Given the description of an element on the screen output the (x, y) to click on. 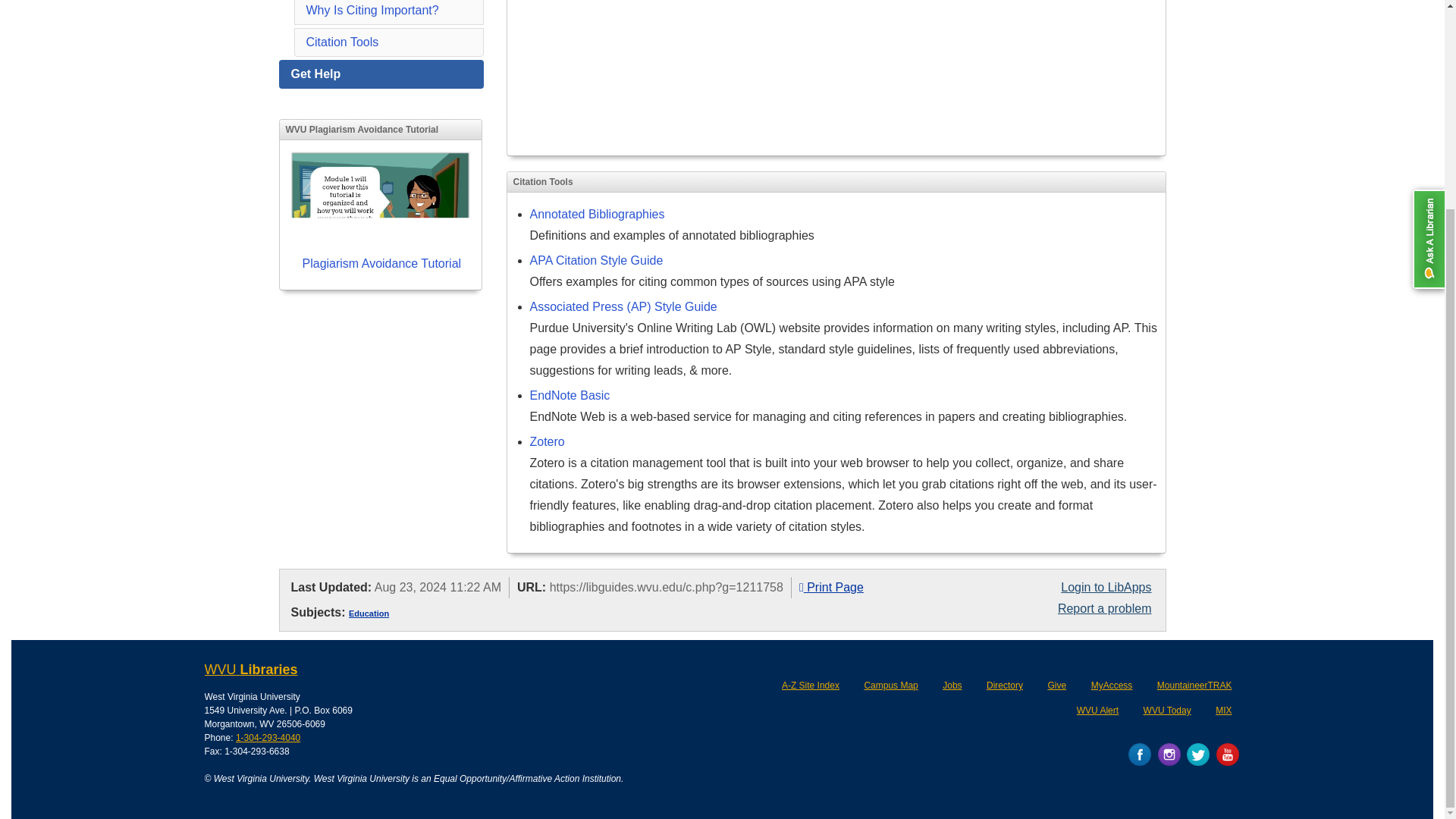
Twitter (1197, 753)
Why Is Citing Important? (372, 10)
Instagram (1168, 753)
Zotero (546, 440)
EndNote Basic (569, 395)
Annotated Bibliographies (596, 214)
APA Citation Style Guide (595, 259)
Get Help (381, 73)
Youtube (1227, 753)
Citation Tools (341, 42)
